Given the description of an element on the screen output the (x, y) to click on. 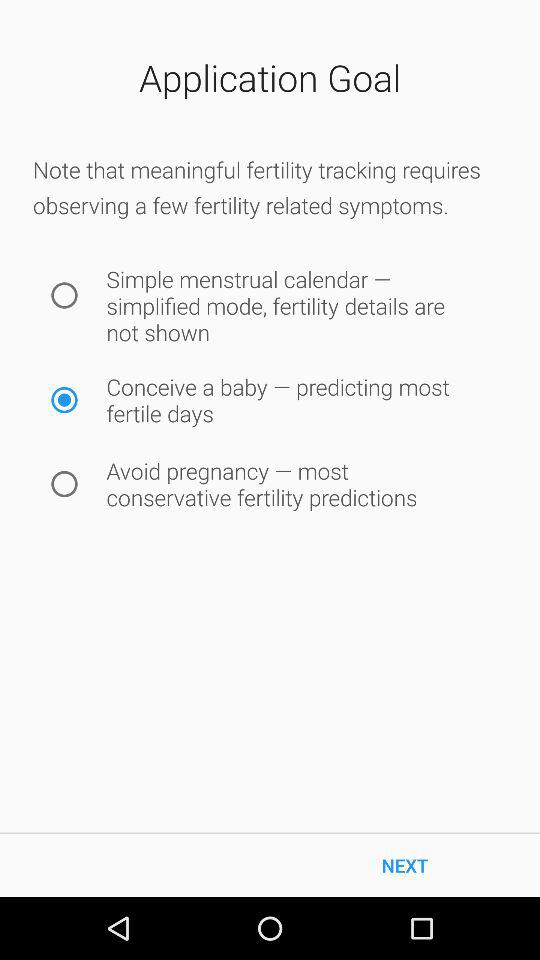
select this button if this you answer (64, 399)
